Given the description of an element on the screen output the (x, y) to click on. 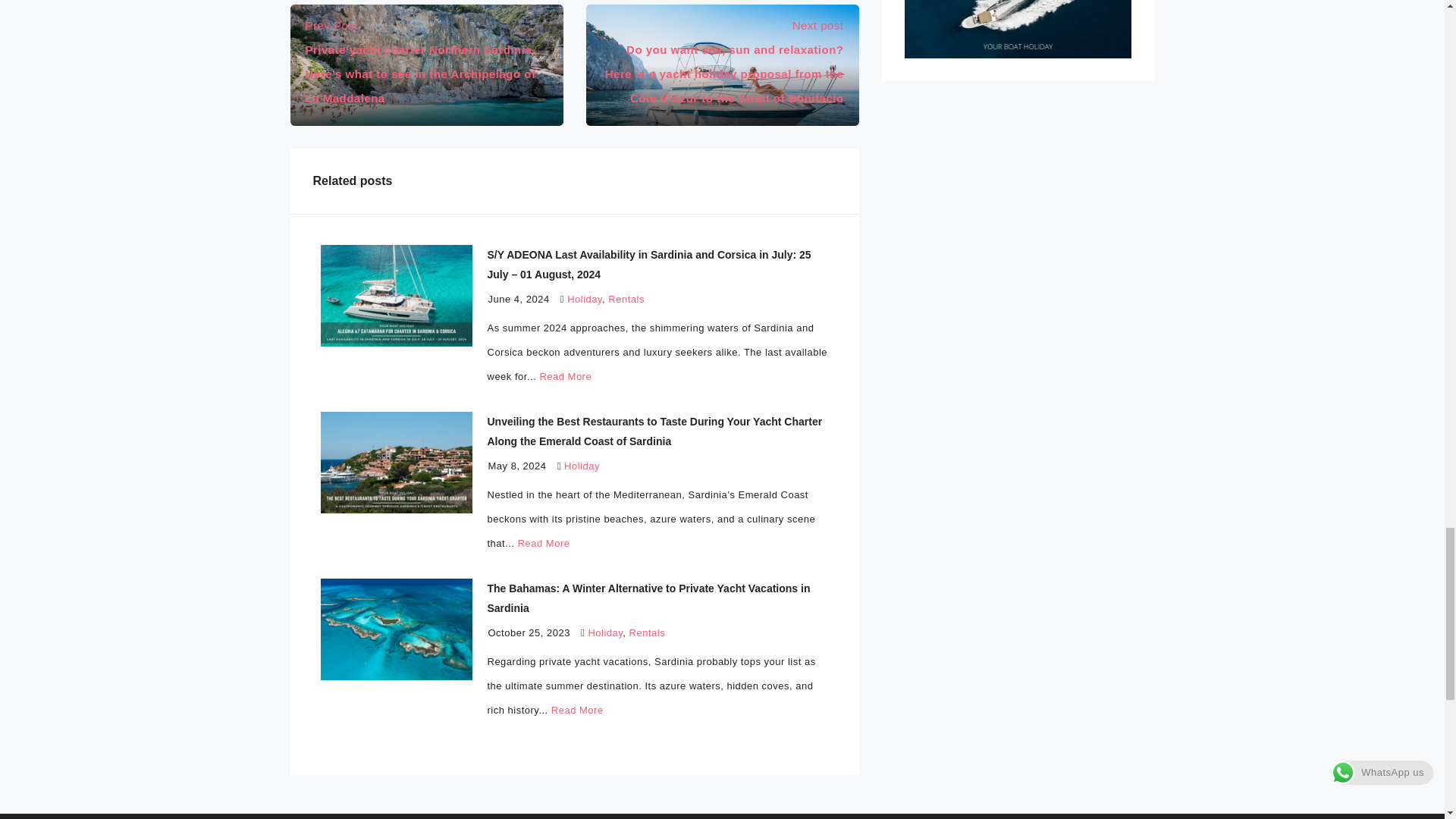
Rentals (646, 632)
Holiday (605, 632)
Rentals (626, 298)
Read More (577, 709)
Read More (564, 376)
Holiday (581, 465)
Read More (544, 542)
Holiday (584, 298)
